Given the description of an element on the screen output the (x, y) to click on. 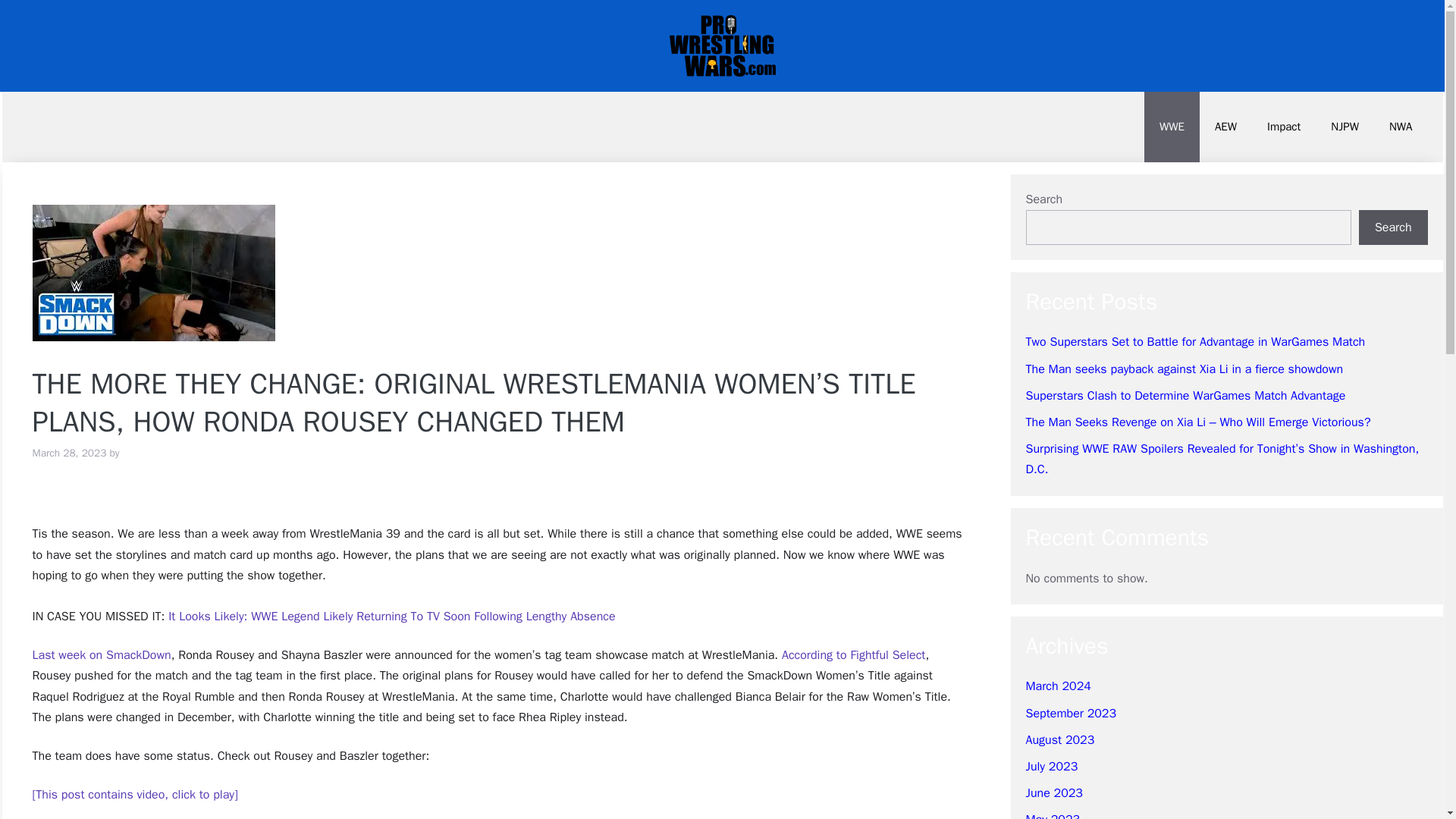
The Man seeks payback against Xia Li in a fierce showdown (1183, 368)
May 2023 (1052, 815)
Click to watch the video (134, 794)
According to Fightful Select (852, 654)
September 2023 (1070, 712)
July 2023 (1051, 766)
Superstars Clash to Determine WarGames Match Advantage (1185, 395)
Search (1393, 226)
Two Superstars Set to Battle for Advantage in WarGames Match (1195, 341)
June 2023 (1053, 792)
Impact (1284, 126)
Last week on SmackDown (101, 654)
August 2023 (1059, 739)
March 2024 (1057, 685)
